Given the description of an element on the screen output the (x, y) to click on. 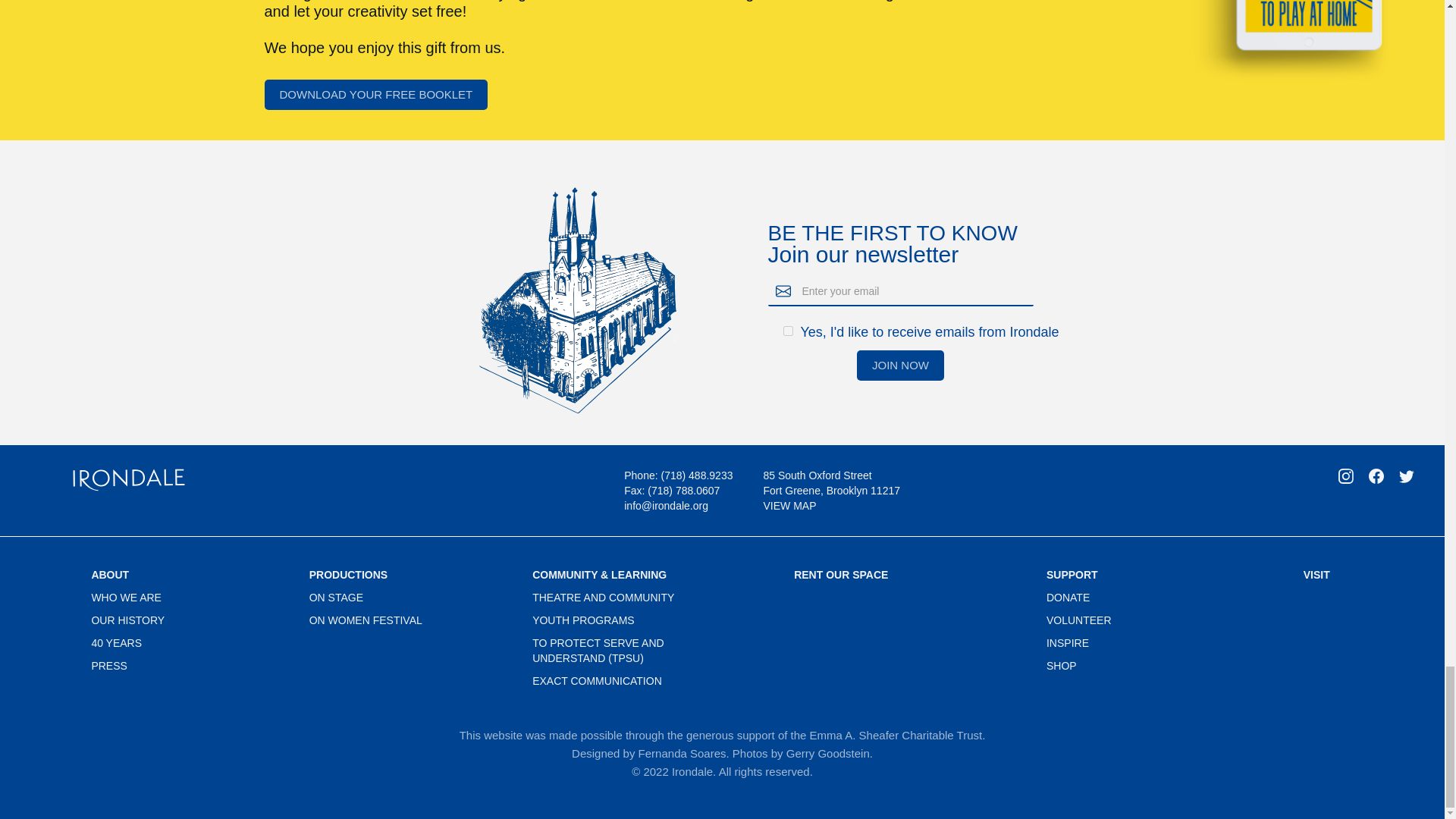
Join now (900, 365)
on (787, 330)
Join now (900, 365)
DOWNLOAD YOUR FREE BOOKLET (375, 94)
